Given the description of an element on the screen output the (x, y) to click on. 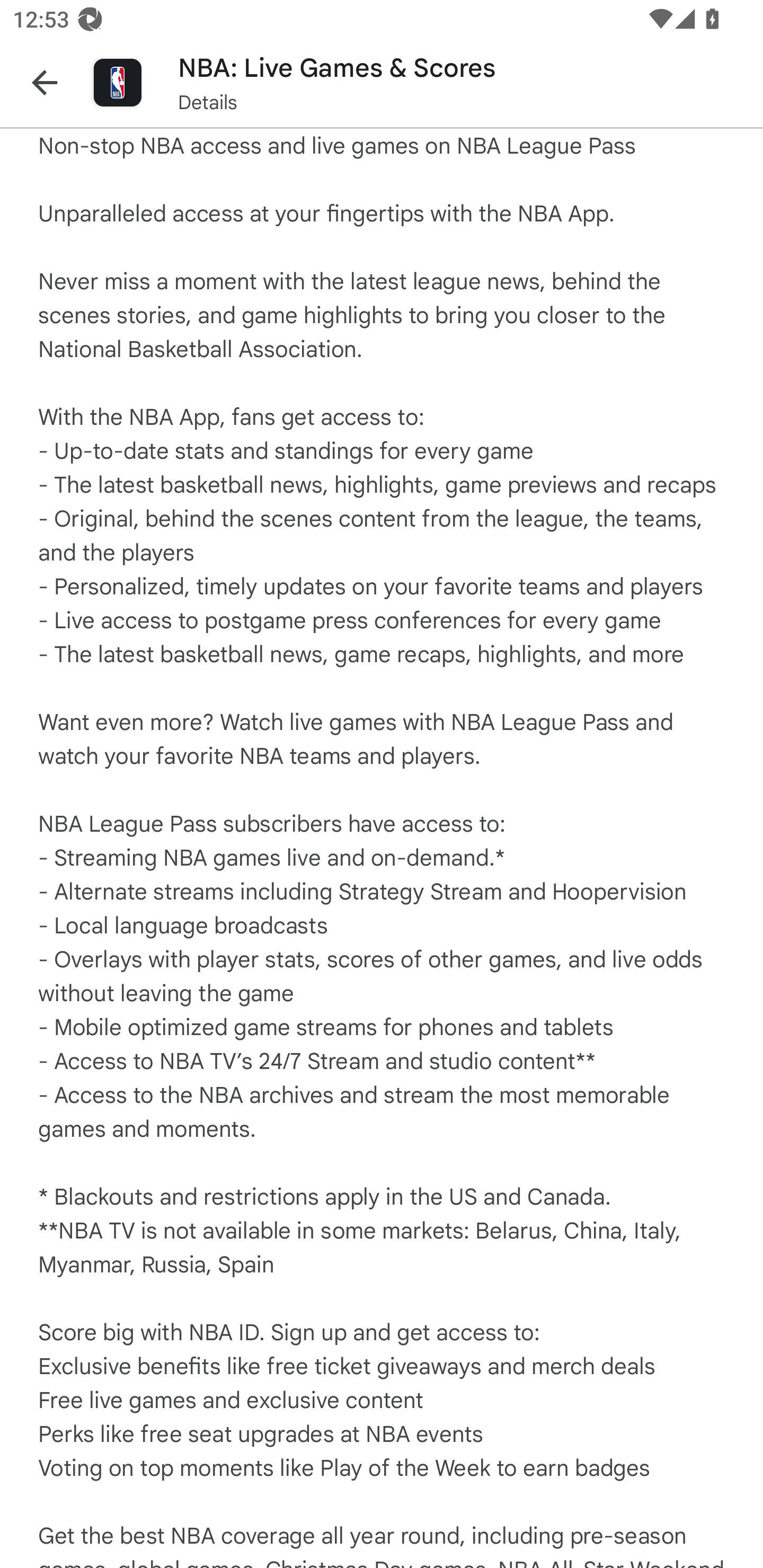
Navigate up (44, 82)
